Given the description of an element on the screen output the (x, y) to click on. 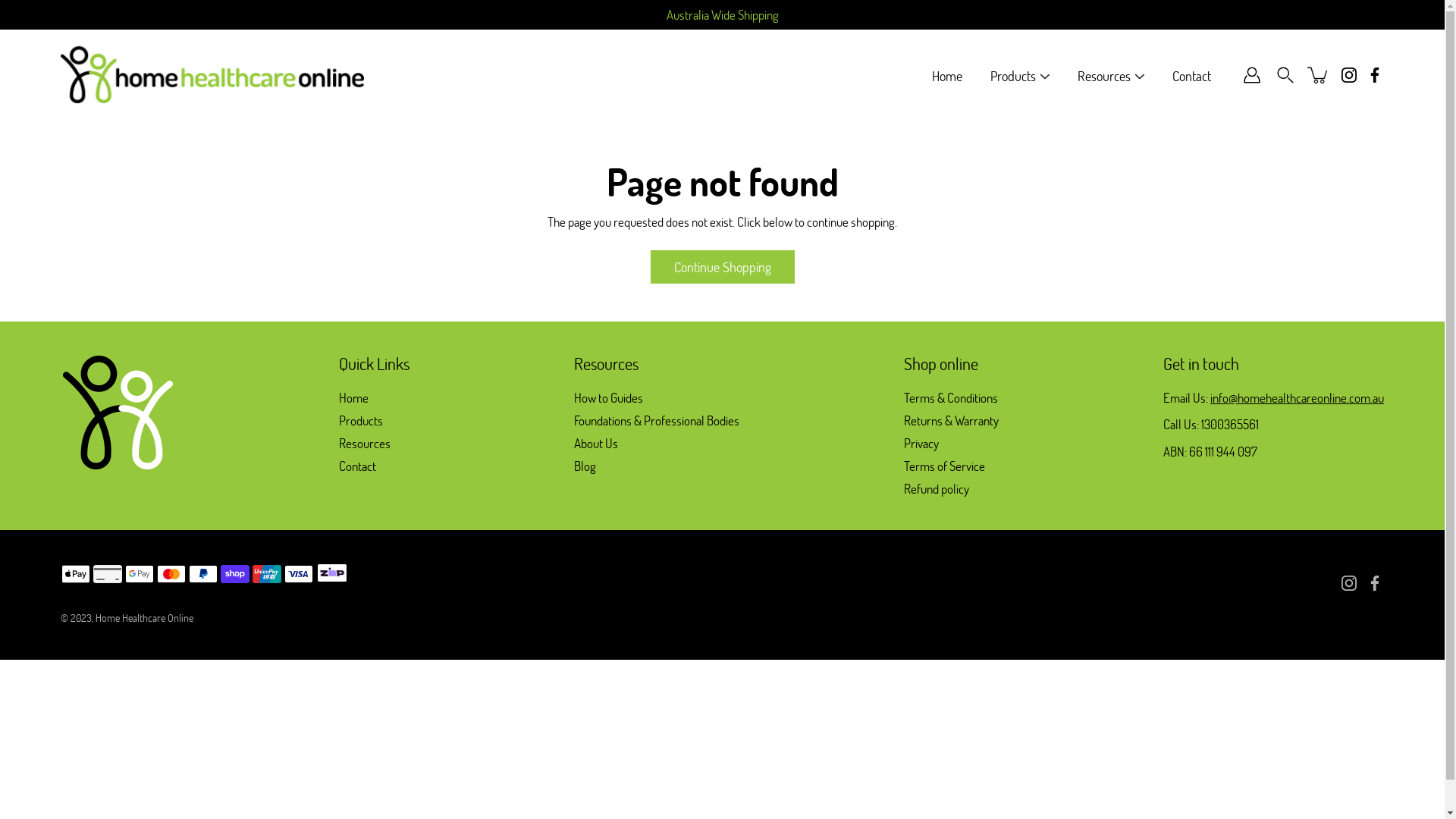
Home Healthcare Online Element type: text (144, 617)
Returns & Warranty Element type: text (950, 420)
Home Element type: text (946, 75)
Products Element type: text (360, 420)
Instagram Element type: text (1348, 582)
Privacy Element type: text (920, 442)
Facebook Element type: text (1374, 582)
Foundations & Professional Bodies Element type: text (656, 420)
Home Element type: text (353, 397)
Facebook Element type: text (1374, 74)
Contact Element type: text (1191, 75)
Terms of Service Element type: text (944, 465)
Continue Shopping Element type: text (722, 266)
Resources Element type: text (364, 442)
About Us Element type: text (596, 442)
Refund policy Element type: text (936, 488)
How to Guides Element type: text (608, 397)
info@homehealthcareonline.com.au Element type: text (1296, 397)
Instagram Element type: text (1348, 74)
Blog Element type: text (585, 465)
Terms & Conditions Element type: text (950, 397)
Products Element type: text (1012, 75)
Contact Element type: text (357, 465)
Resources Element type: text (1103, 75)
